Given the description of an element on the screen output the (x, y) to click on. 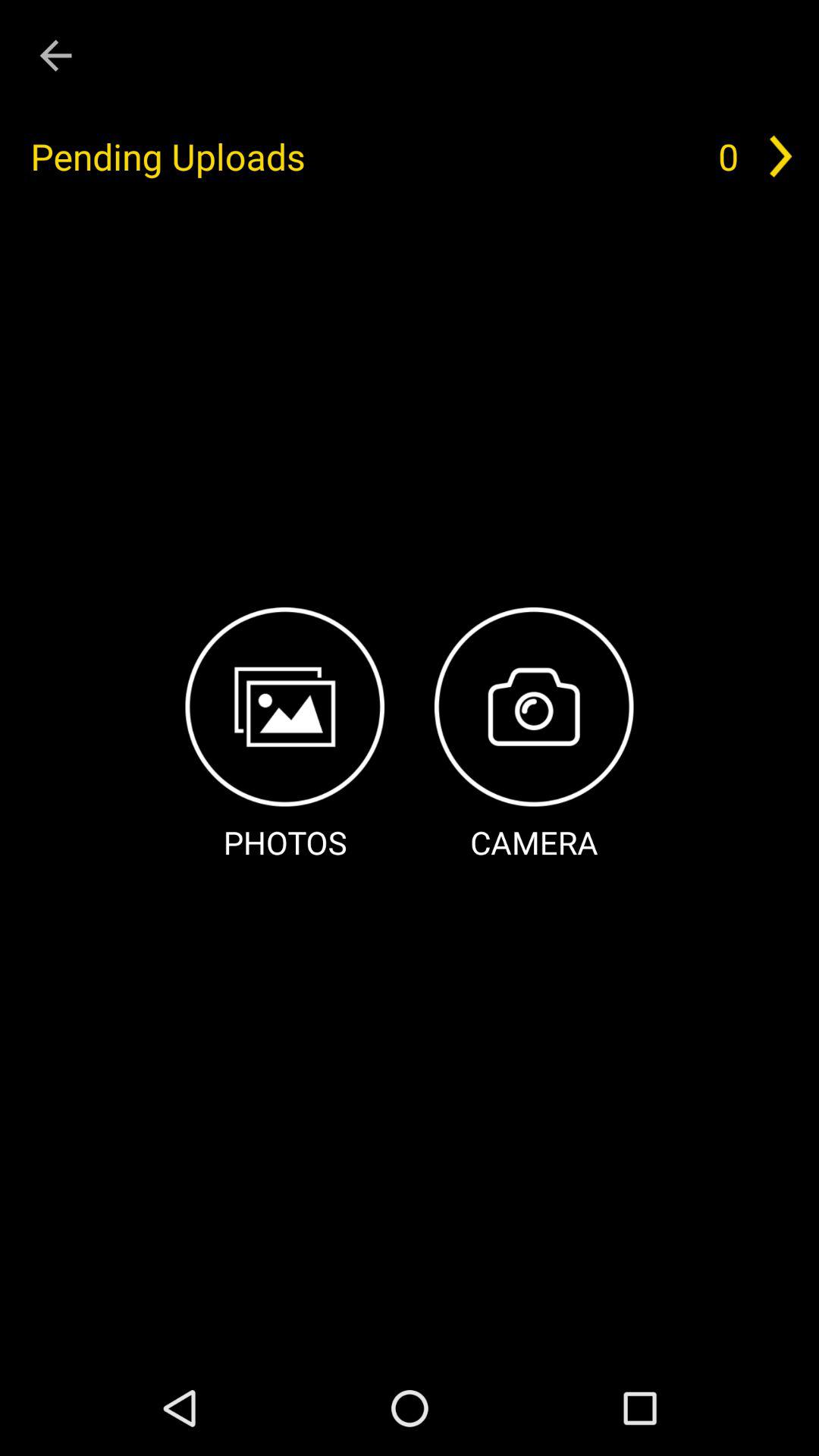
open the camera item (533, 735)
